Given the description of an element on the screen output the (x, y) to click on. 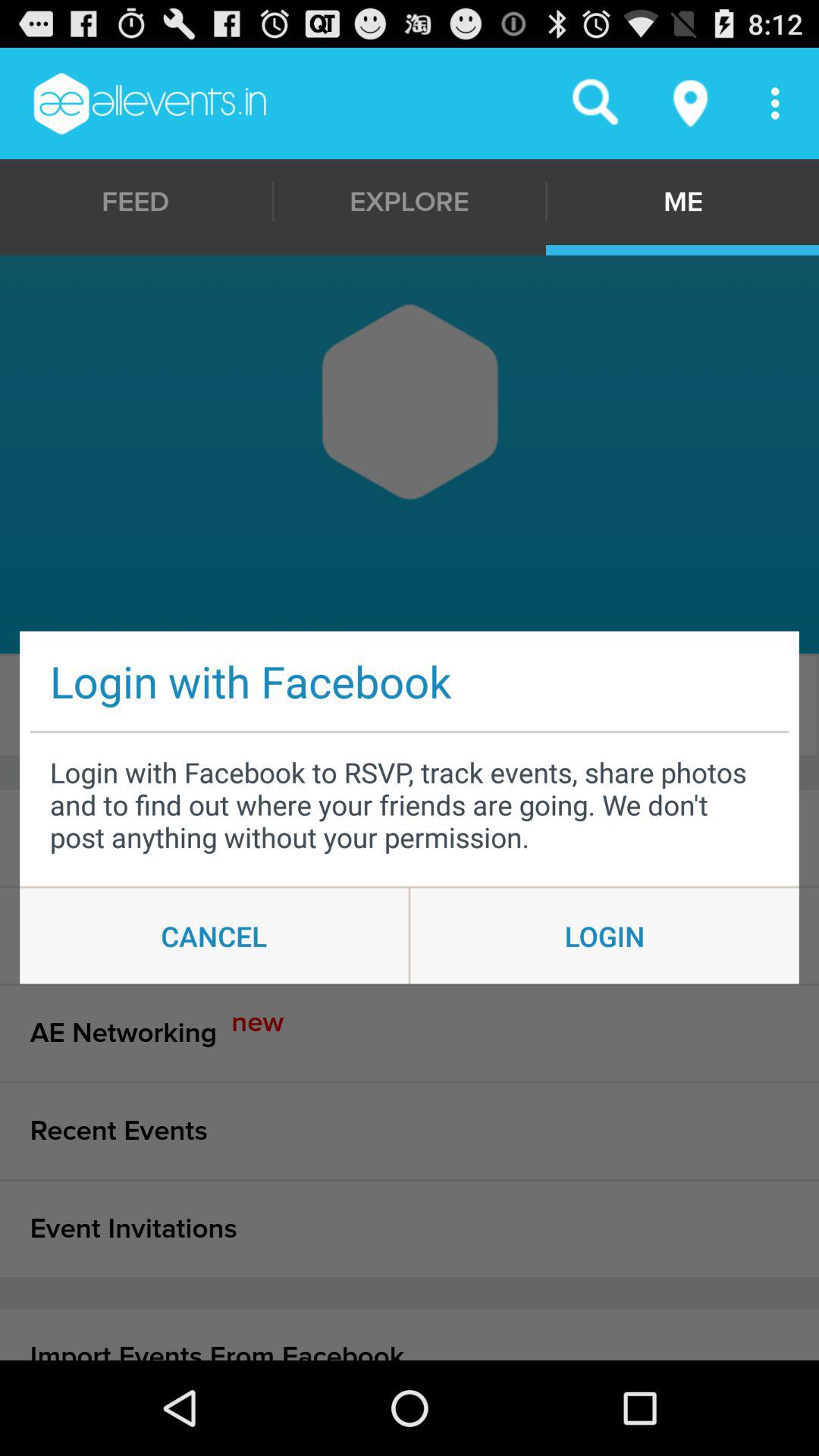
launch the icon next to the followers item (680, 705)
